Given the description of an element on the screen output the (x, y) to click on. 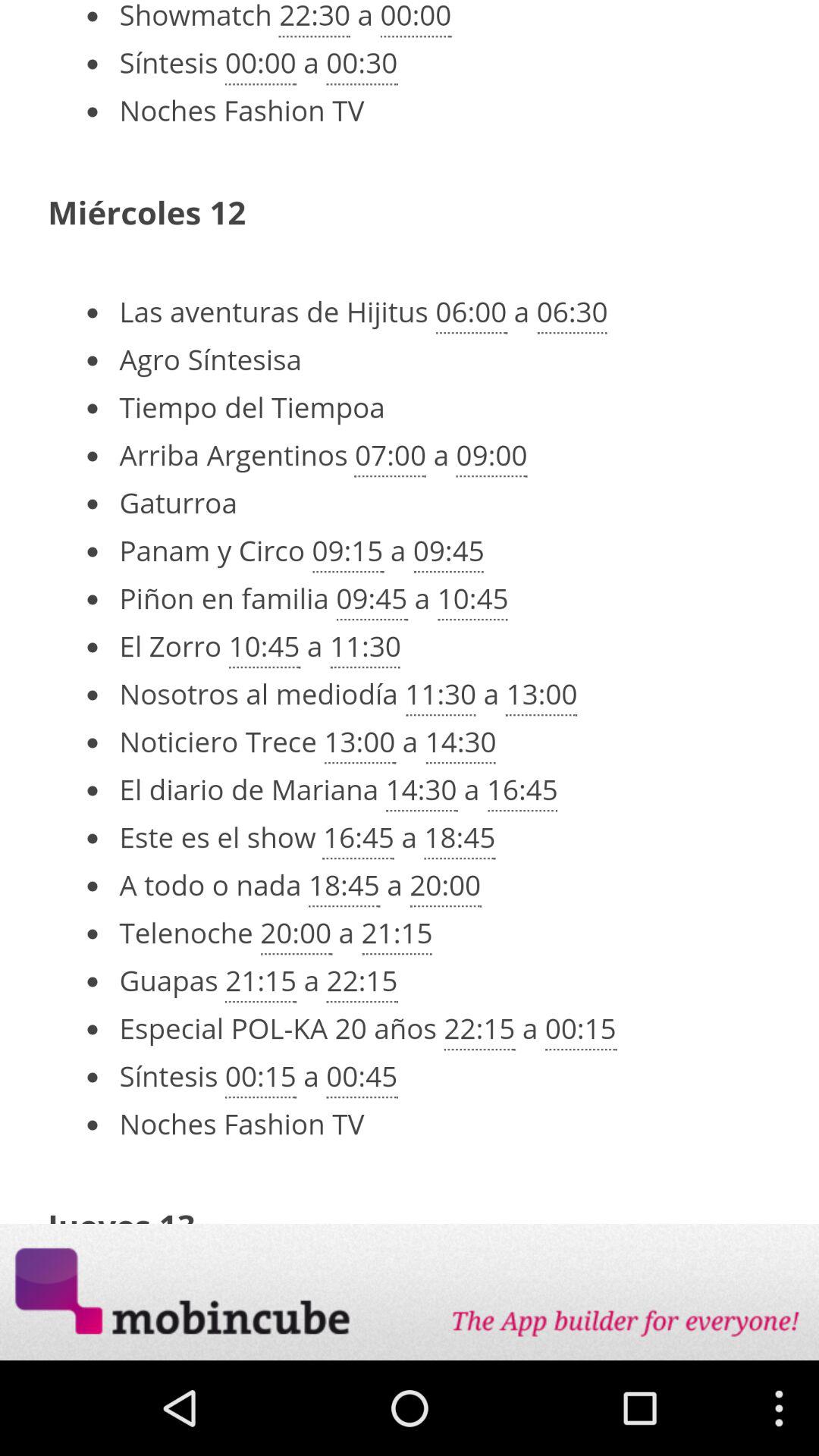
click to add (409, 1291)
